Given the description of an element on the screen output the (x, y) to click on. 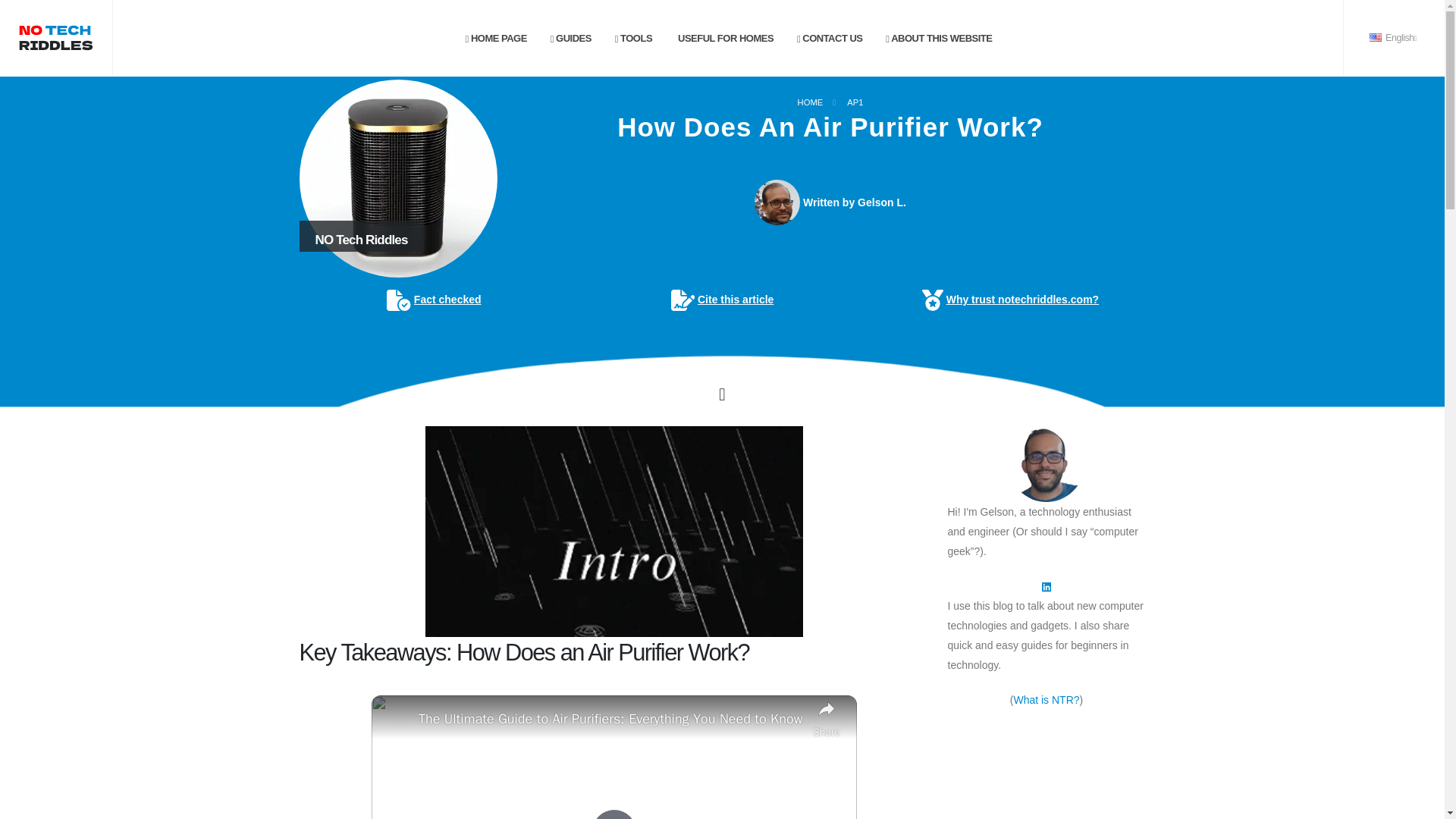
Play Video (614, 814)
 HOME PAGE (495, 38)
 Cite this article (722, 300)
NO Tech Riddles (397, 178)
English (1393, 37)
HOME (810, 102)
 USEFUL FOR HOMES (723, 38)
Play Video (614, 814)
 ABOUT THIS WEBSITE (939, 38)
